Given the description of an element on the screen output the (x, y) to click on. 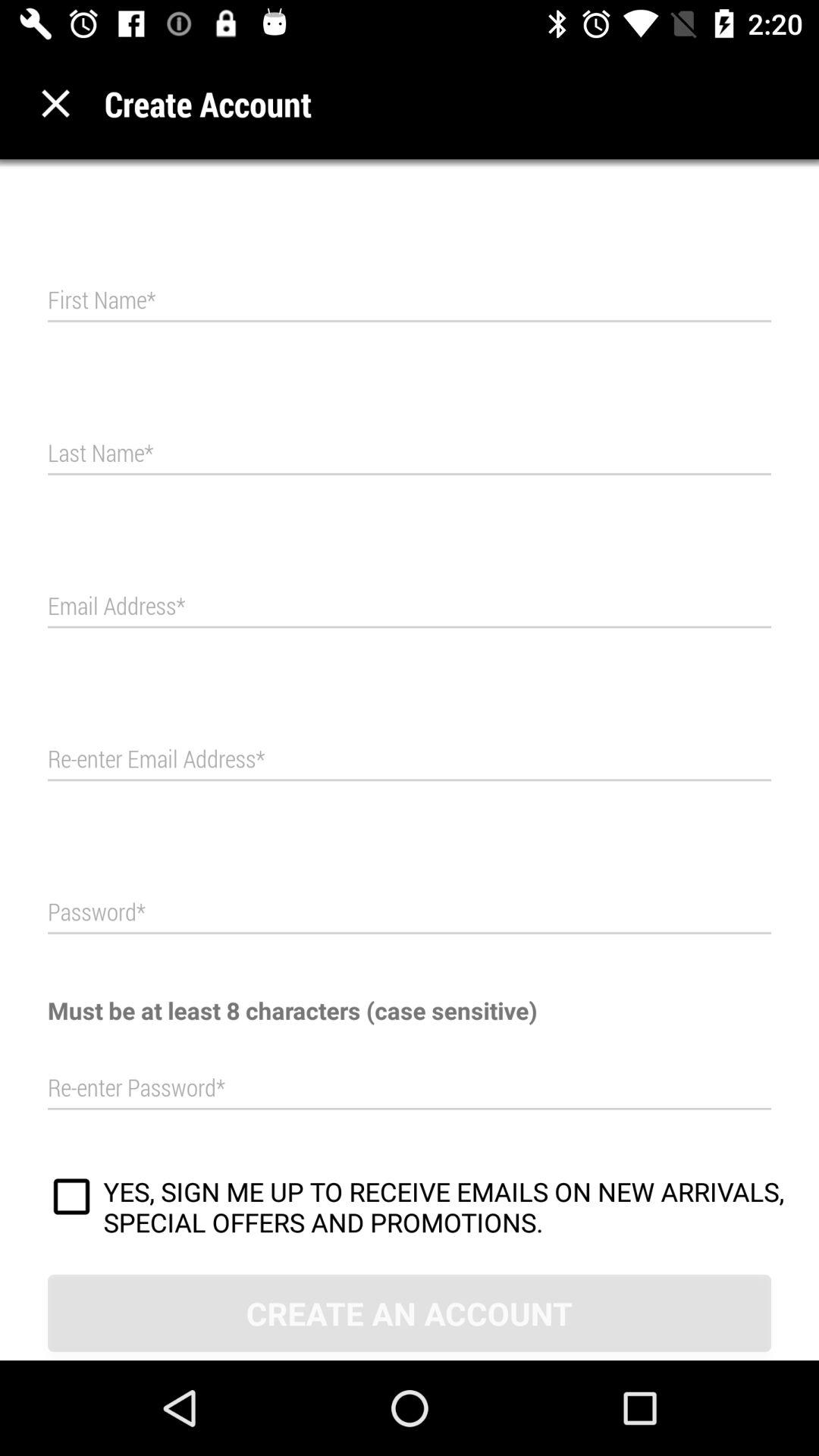
launch item above the create an account (71, 1198)
